Given the description of an element on the screen output the (x, y) to click on. 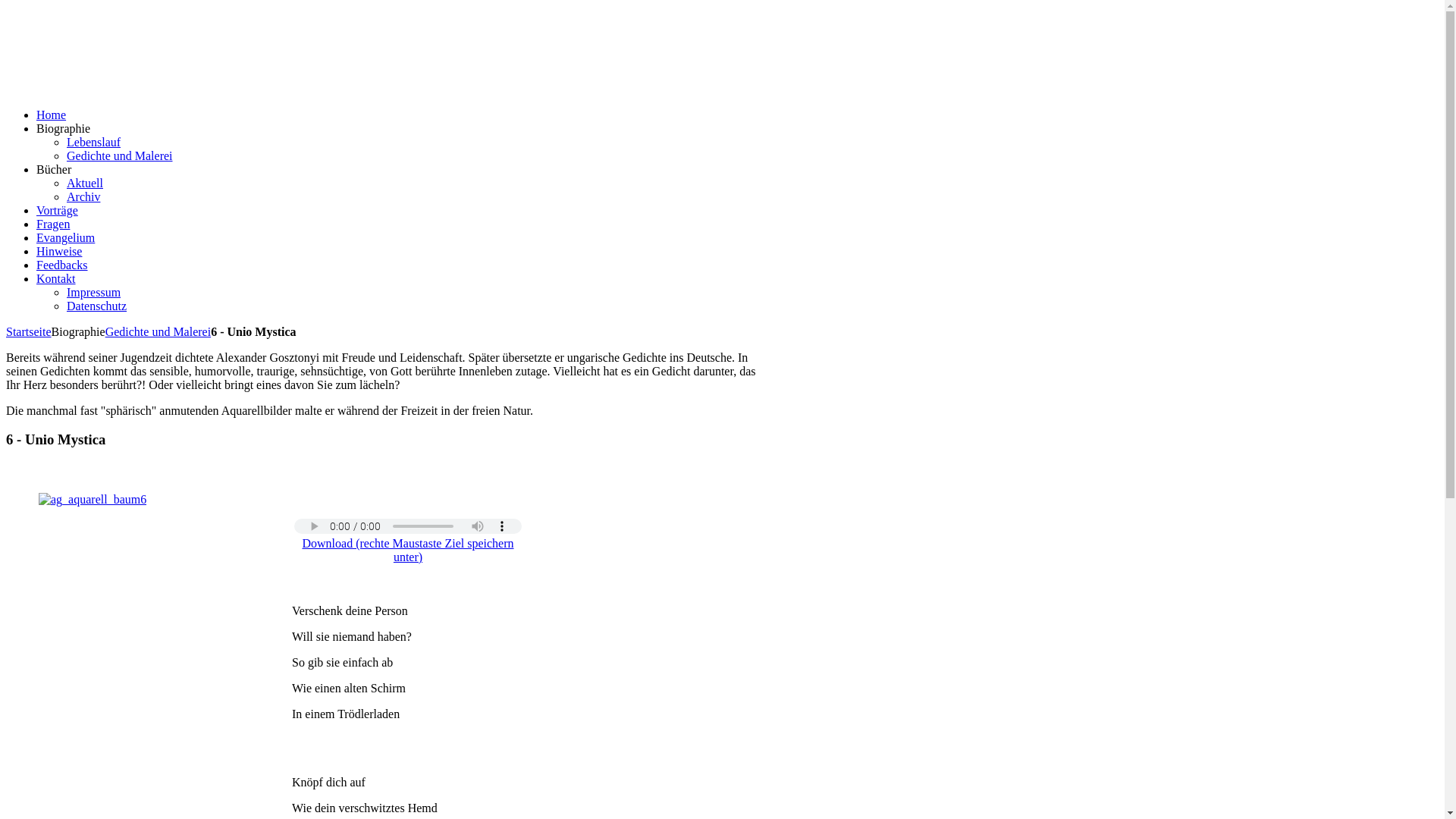
Kontakt Element type: text (55, 278)
Hinweise Element type: text (58, 250)
Evangelium Element type: text (65, 237)
<span class="sige_js_title">ag_aquarell_baum6</span> Element type: hover (92, 498)
Aktuell Element type: text (84, 182)
Impressum Element type: text (93, 291)
Lebenslauf Element type: text (93, 141)
Datenschutz Element type: text (96, 305)
Gedichte und Malerei Element type: text (119, 155)
ag_aquarell_baum6 Element type: hover (92, 499)
Home Element type: text (50, 114)
Download (rechte Maustaste Ziel speichern unter) Element type: text (407, 549)
Gedichte und Malerei Element type: text (158, 331)
Feedbacks Element type: text (61, 264)
Archiv Element type: text (83, 196)
Fragen Element type: text (52, 223)
Startseite Element type: text (28, 331)
